Given the description of an element on the screen output the (x, y) to click on. 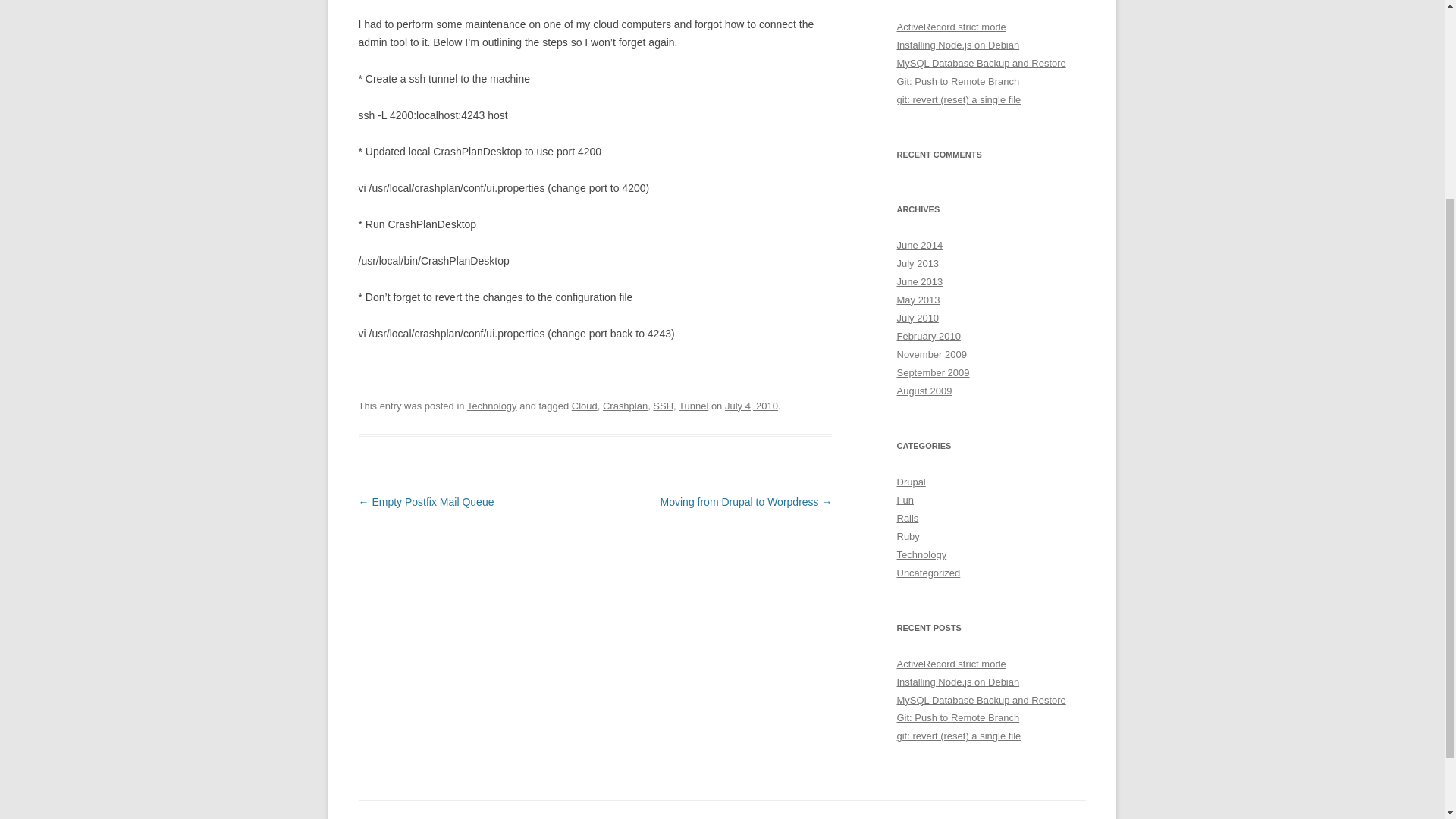
Installing Node.js on Debian (957, 681)
September 2009 (932, 372)
ActiveRecord strict mode (951, 26)
MySQL Database Backup and Restore (980, 62)
June 2014 (919, 244)
SSH (662, 405)
Uncategorized (927, 572)
July 2010 (917, 317)
May 2013 (917, 299)
Crashplan (624, 405)
